Given the description of an element on the screen output the (x, y) to click on. 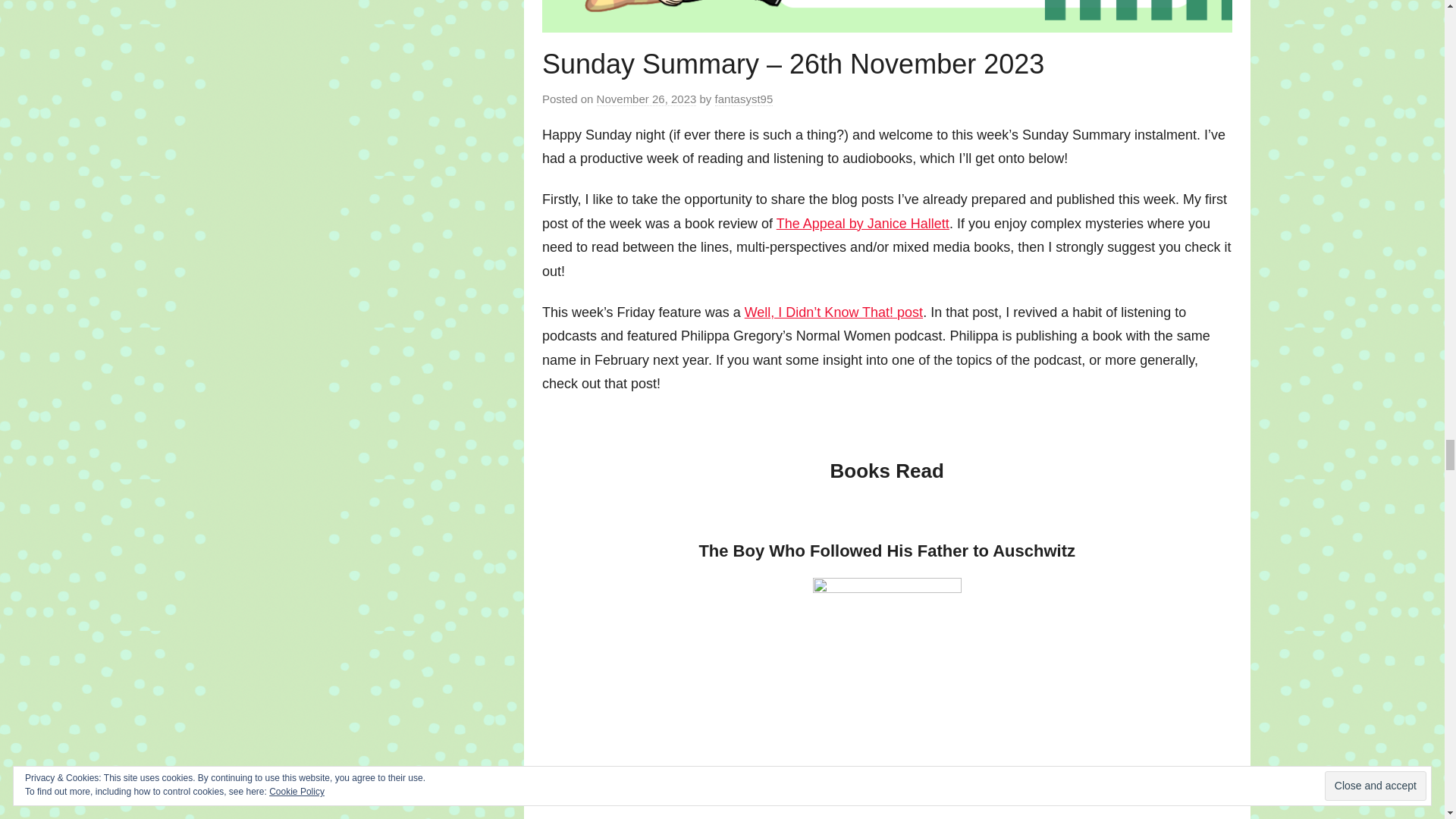
View all posts by fantasyst95 (743, 99)
